Given the description of an element on the screen output the (x, y) to click on. 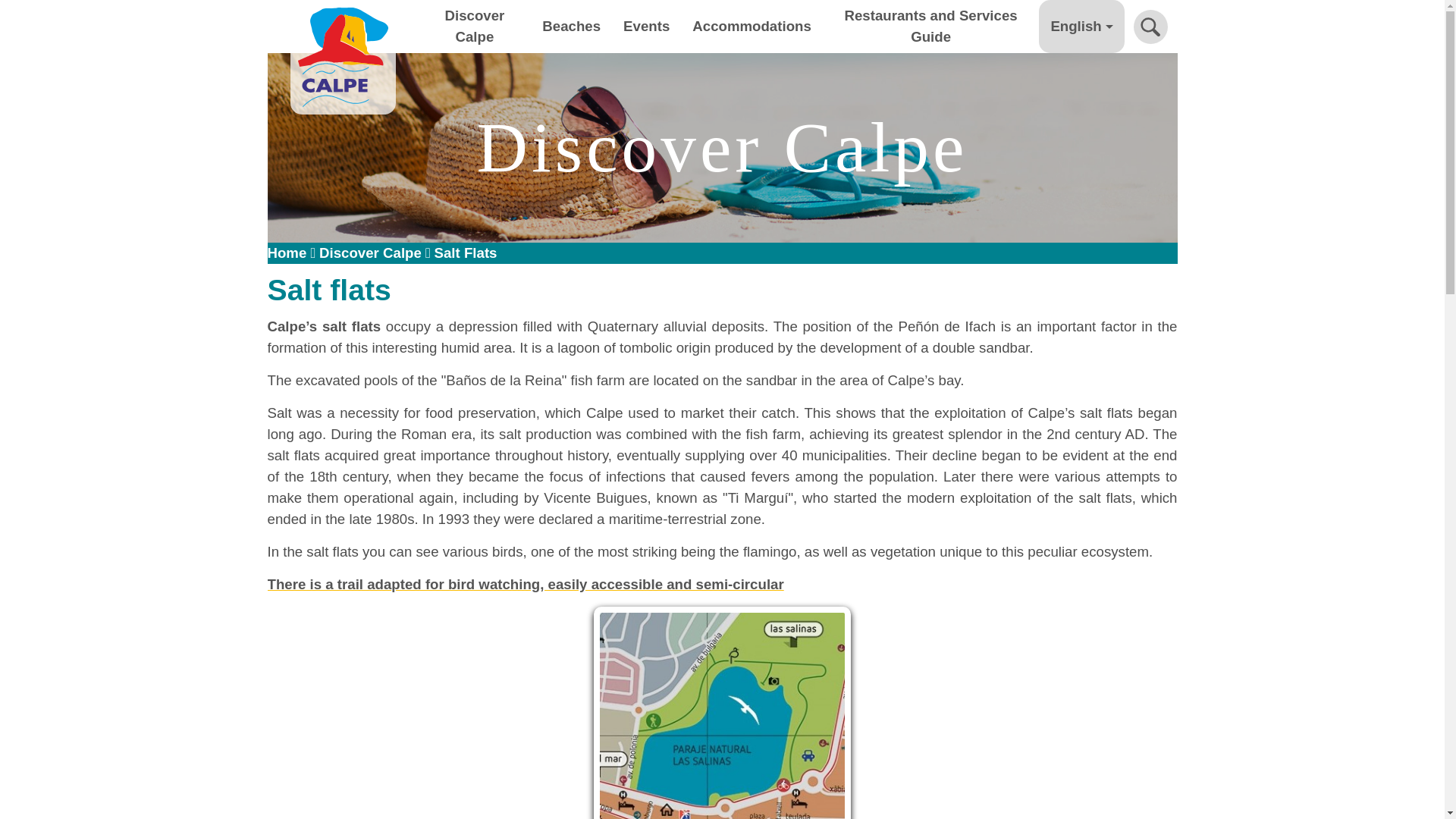
Home (285, 252)
Discover Calpe (370, 252)
Restaurants and Services Guide (930, 26)
Discover Calpe (475, 26)
Beaches (571, 26)
Buscador (1149, 26)
Home (341, 26)
Accommodations (751, 26)
English (1081, 26)
Events (646, 26)
